Given the description of an element on the screen output the (x, y) to click on. 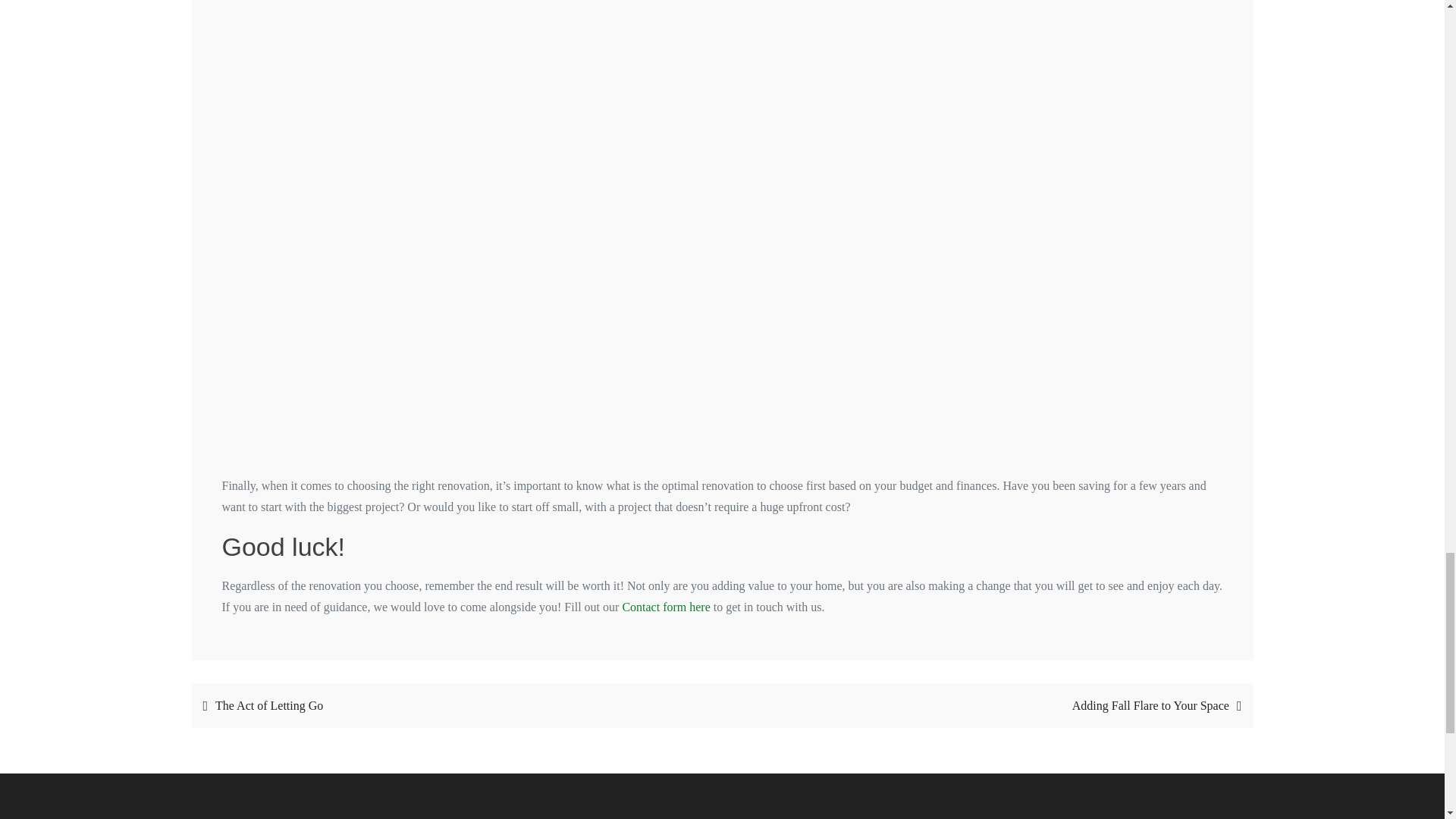
The Act of Letting Go (453, 705)
Contact form here (665, 606)
Adding Fall Flare to Your Space (991, 705)
